Given the description of an element on the screen output the (x, y) to click on. 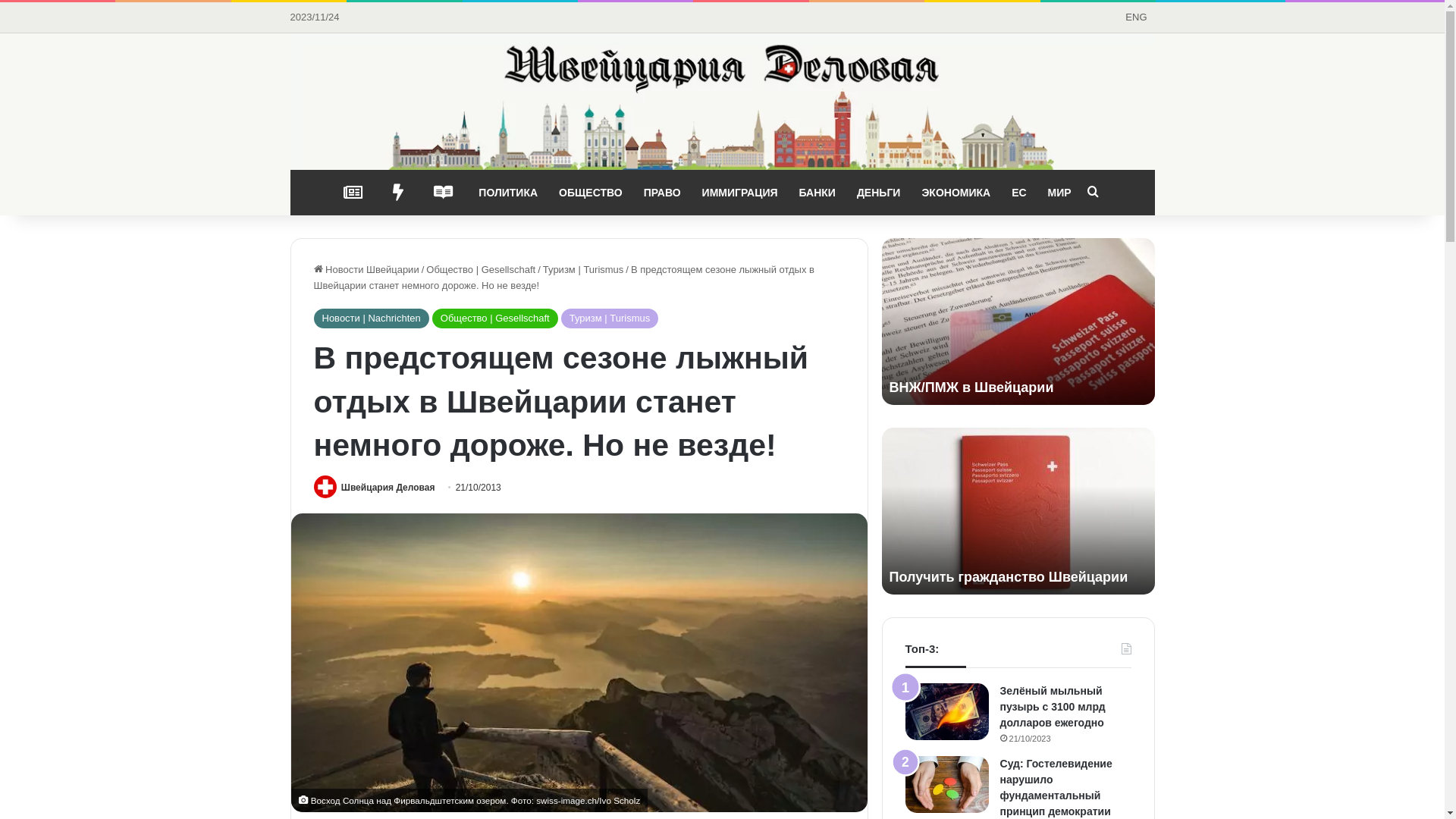
ENG Element type: text (1135, 17)
